Given the description of an element on the screen output the (x, y) to click on. 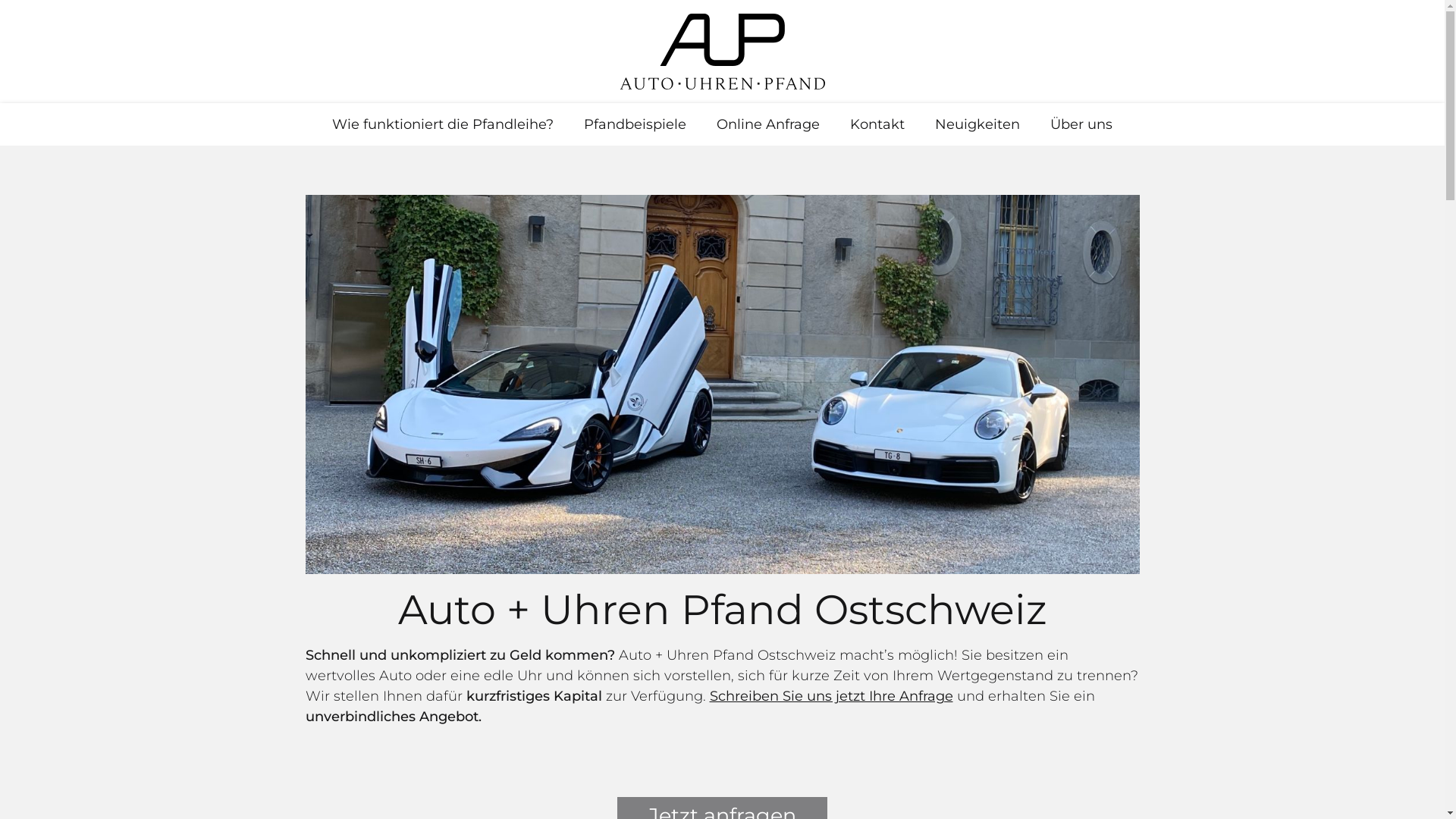
Wie funktioniert die Pfandleihe? Element type: text (442, 123)
Schreiben Sie uns jetzt Ihre Anfrage Element type: text (831, 695)
Kontakt Element type: text (876, 123)
Pfandbeispiele Element type: text (634, 123)
Neuigkeiten Element type: text (977, 123)
Online Anfrage Element type: text (767, 123)
